Given the description of an element on the screen output the (x, y) to click on. 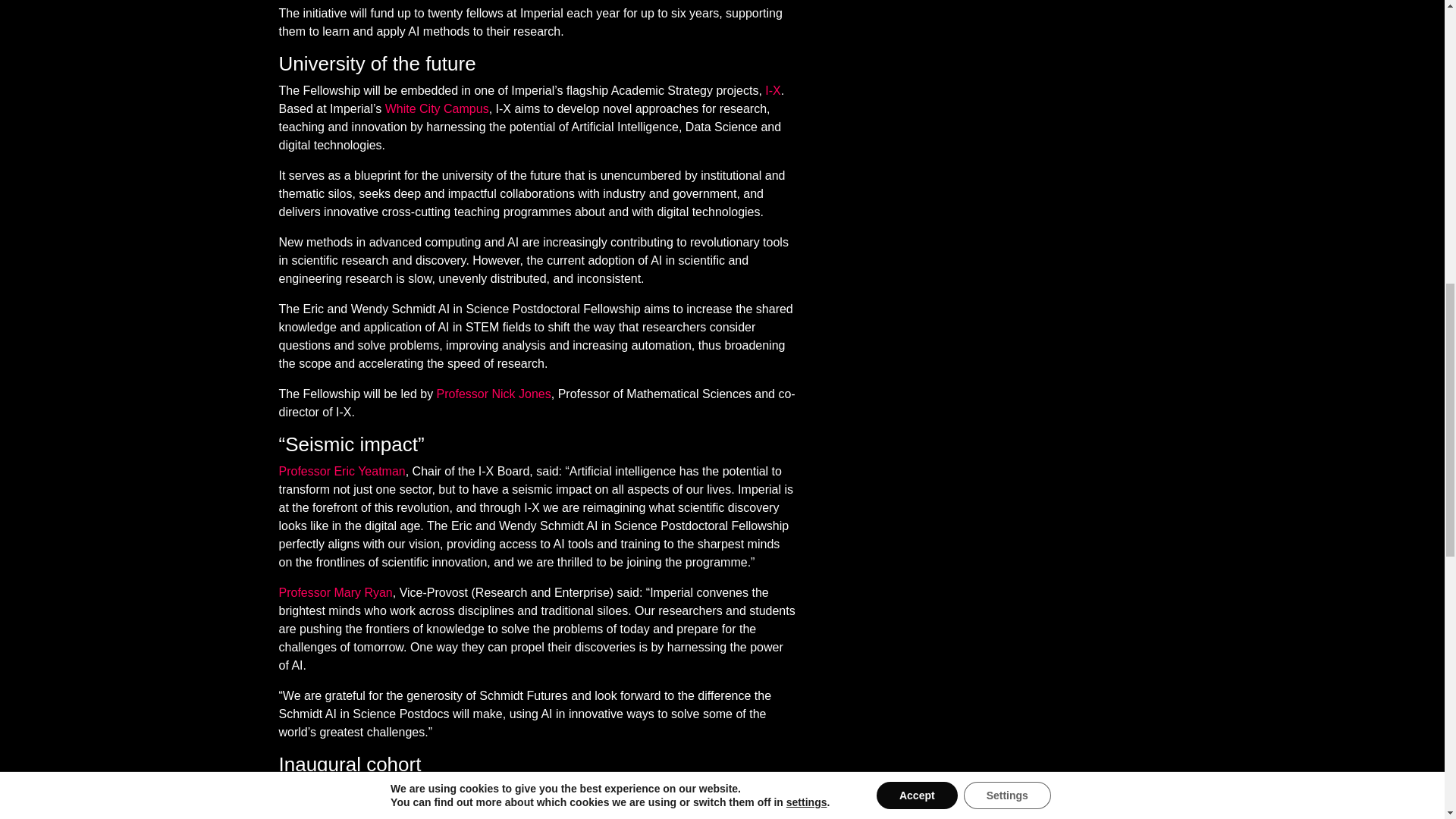
Professor Mary Ryan (336, 592)
Professor Nick Jones (493, 393)
White City Campus (437, 108)
Professor Eric Yeatman (342, 471)
I-X (772, 90)
